Given the description of an element on the screen output the (x, y) to click on. 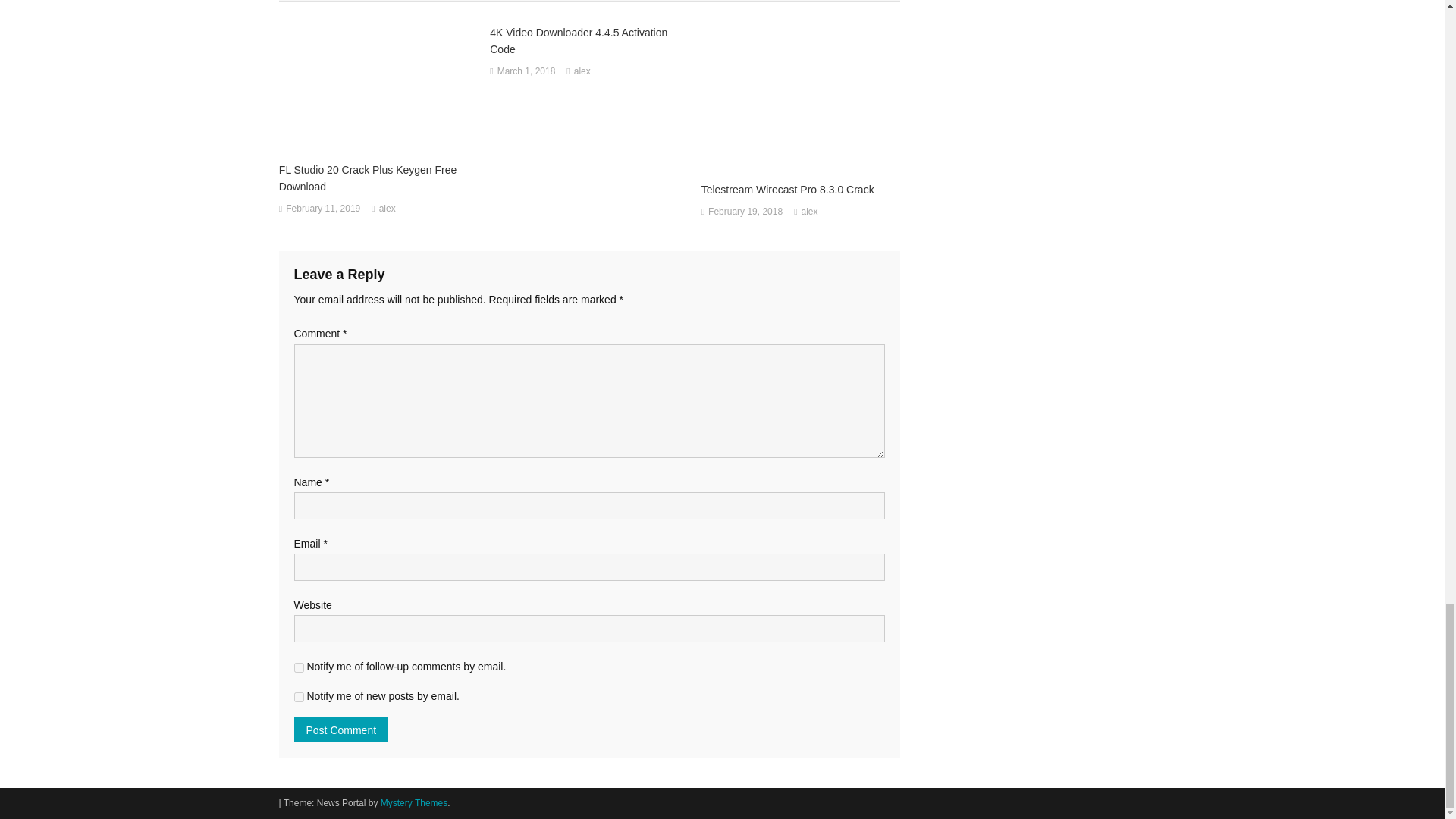
February 19, 2018 (745, 211)
March 1, 2018 (526, 71)
subscribe (299, 667)
Telestream Wirecast Pro 8.3.0 Crack (800, 189)
FL Studio 20 Crack Plus Keygen Free Download (378, 177)
Post Comment (341, 729)
alex (387, 208)
alex (582, 71)
subscribe (299, 696)
February 11, 2019 (322, 208)
